Given the description of an element on the screen output the (x, y) to click on. 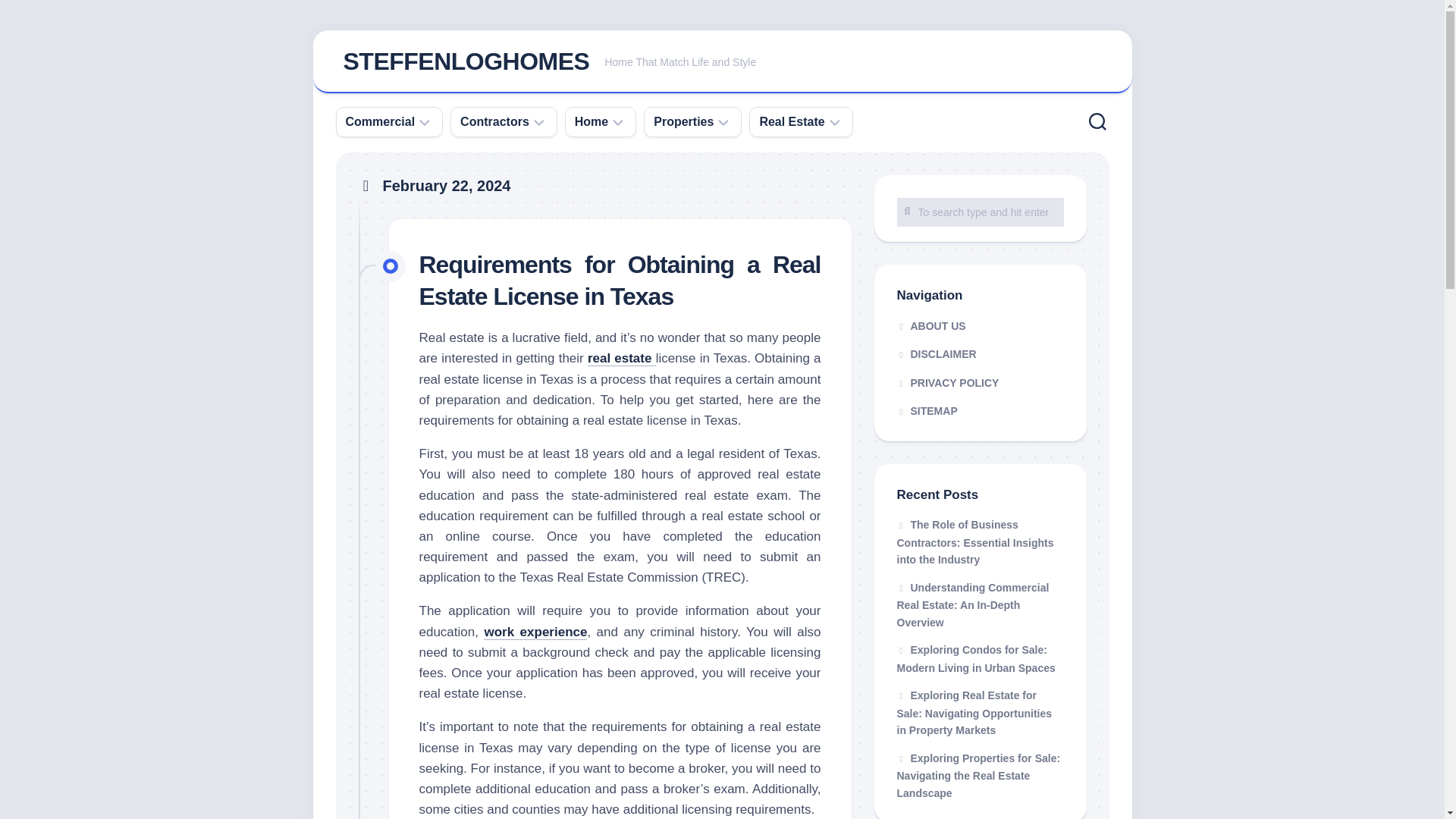
Contractors (494, 121)
STEFFENLOGHOMES (465, 61)
Commercial (380, 121)
work experience (722, 62)
Home (534, 631)
Requirements for Obtaining a Real Estate License in Texas (591, 121)
To search type and hit enter (620, 280)
Real Estate (979, 212)
Skip to content (791, 121)
To search type and hit enter (622, 358)
ABOUT US (979, 212)
Properties (979, 326)
